Given the description of an element on the screen output the (x, y) to click on. 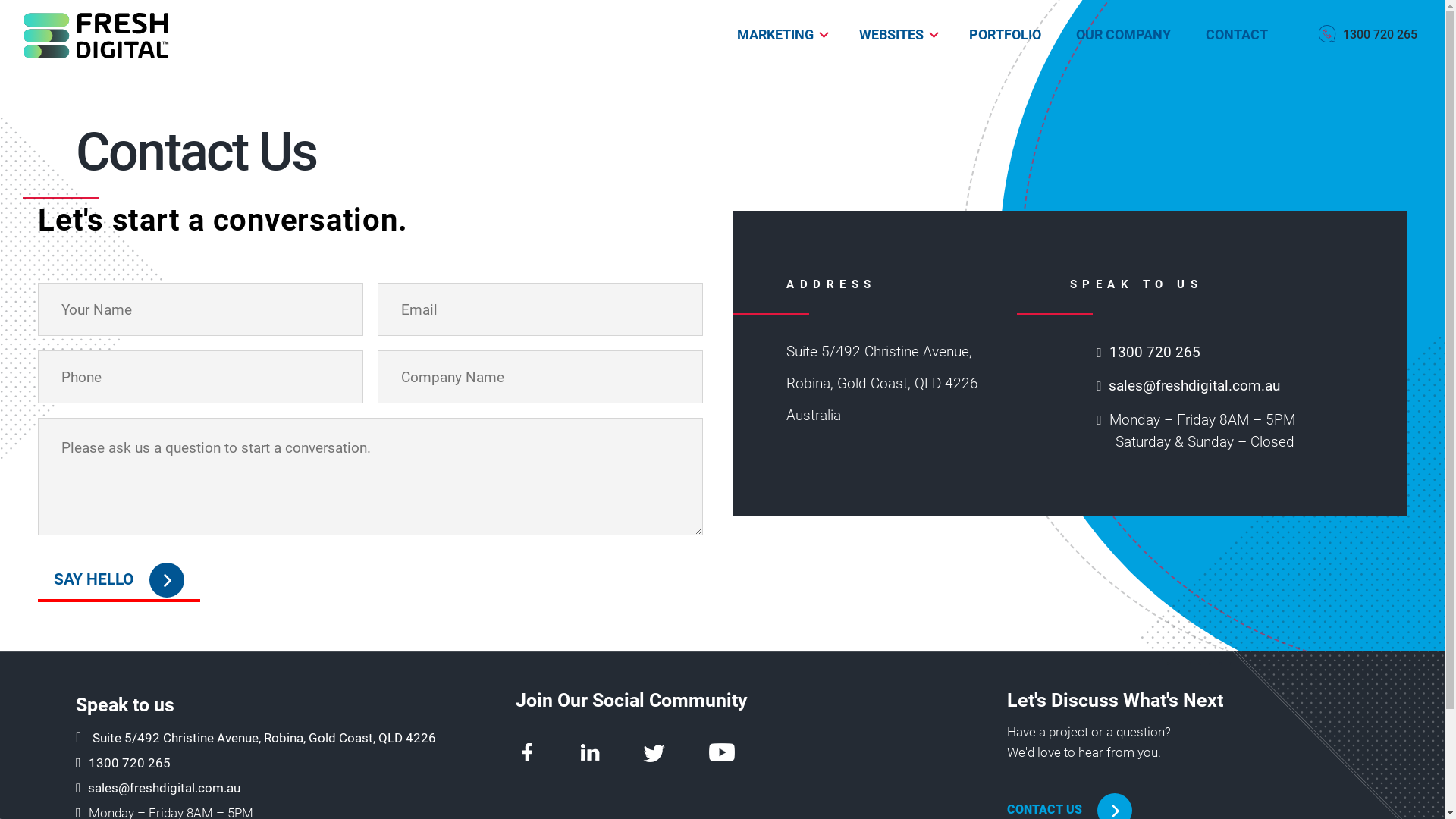
sales@freshdigital.com.au Element type: text (163, 787)
1300 720 265 Element type: text (129, 762)
WEBSITES Element type: text (891, 34)
Suite 5/492 Christine Avenue, Robina, Gold Coast, QLD 4226 Element type: text (264, 737)
sales@freshdigital.com.au Element type: text (1194, 385)
Home Element type: hover (154, 34)
CONTACT Element type: text (1231, 34)
1300 720 265 Element type: text (1369, 34)
OUR COMPANY Element type: text (1125, 34)
SAY HELLO Element type: text (118, 580)
1300 720 265 Element type: text (1154, 351)
MARKETING Element type: text (774, 34)
PORTFOLIO Element type: text (1006, 34)
